Given the description of an element on the screen output the (x, y) to click on. 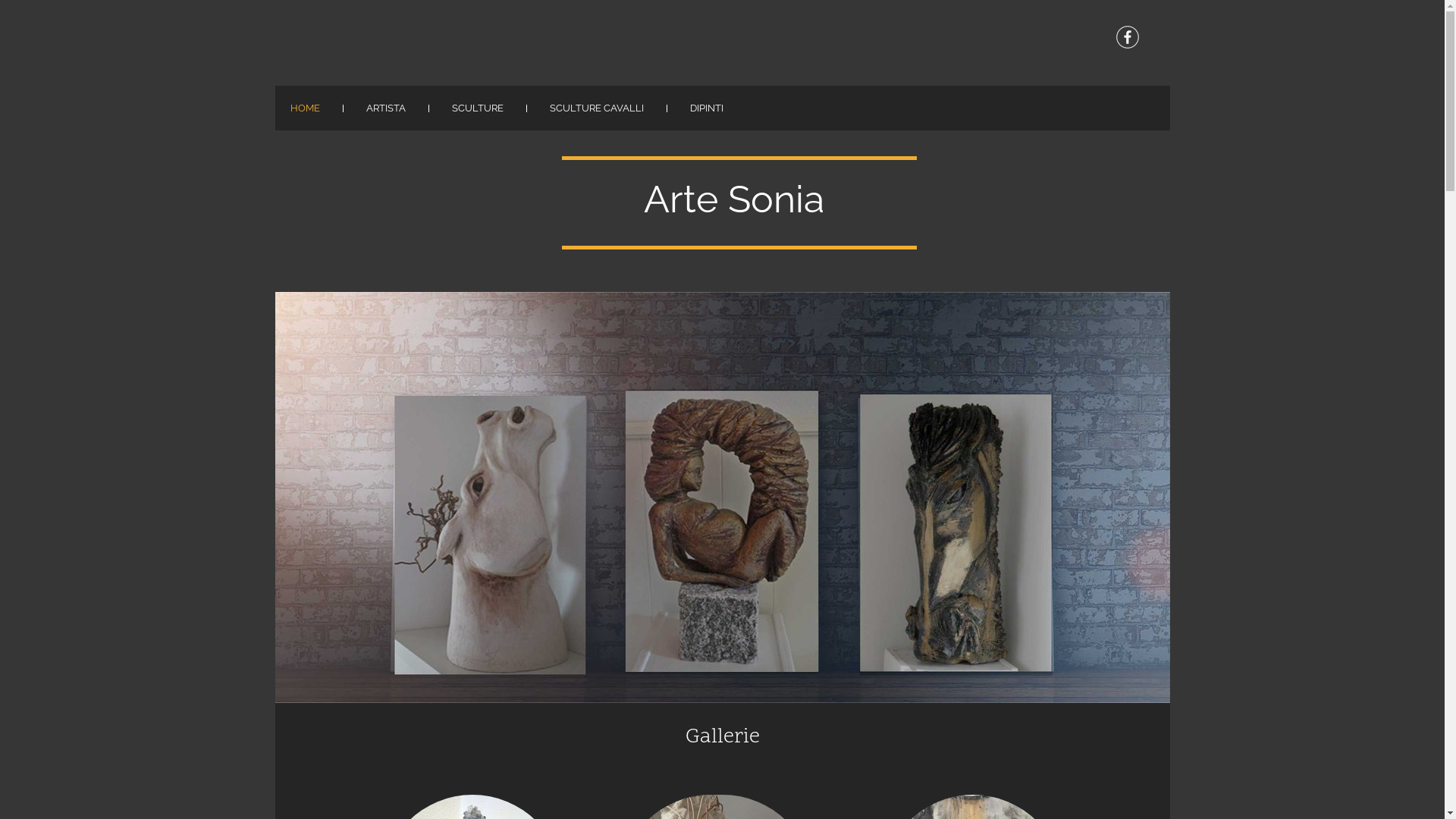
ARTISTA Element type: text (385, 107)
SCULTURE Element type: text (477, 107)
HOME Element type: text (304, 107)
SCULTURE CAVALLI Element type: text (595, 107)
DIPINTI Element type: text (706, 107)
